Given the description of an element on the screen output the (x, y) to click on. 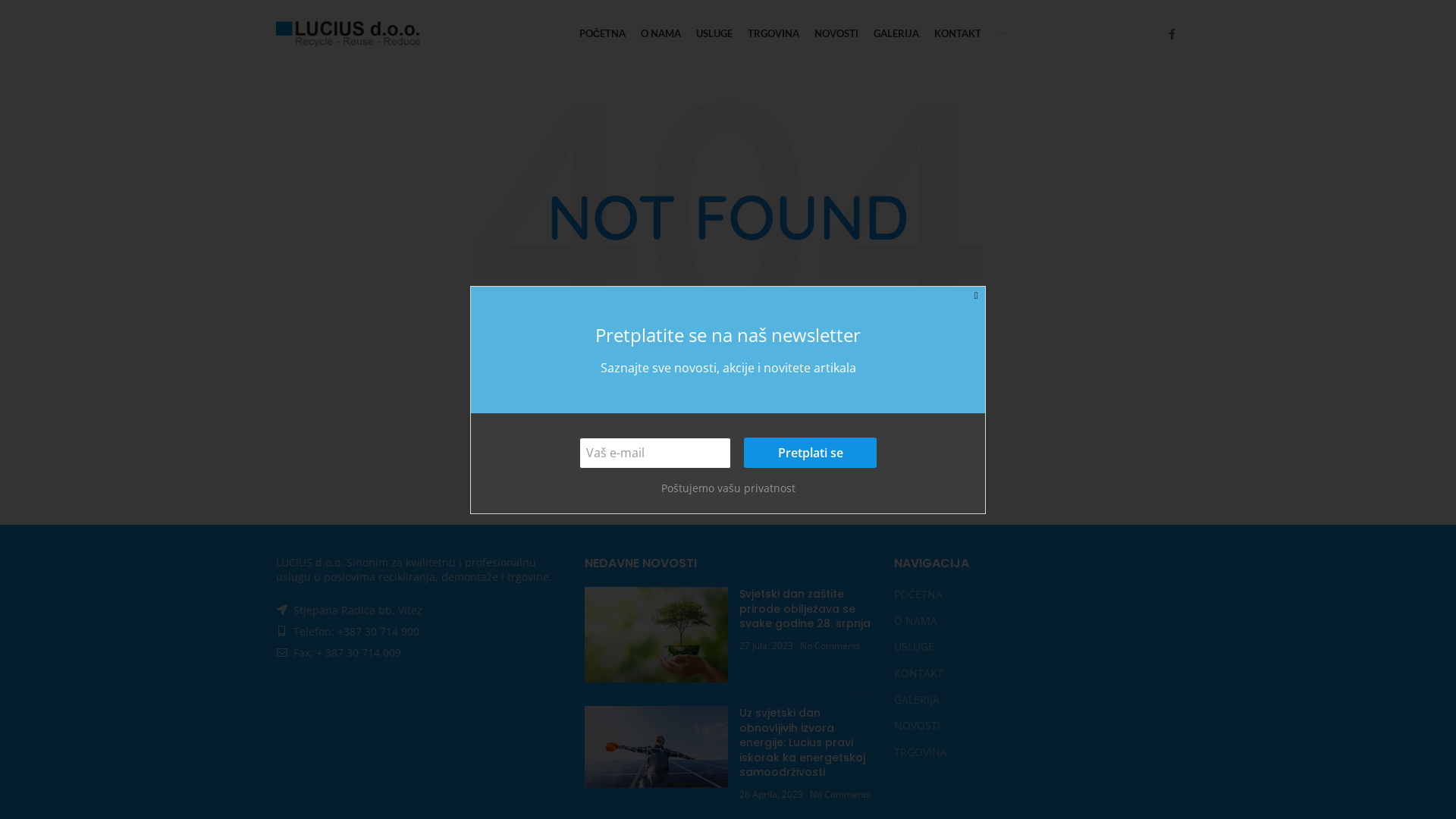
NASLOVNA Element type: hover (656, 634)
USLUGE Element type: text (914, 646)
Man worker in the firld by the solar panels Element type: hover (656, 746)
SEARCH Element type: text (859, 446)
USLUGE Element type: text (714, 33)
No Comments Element type: text (839, 793)
TRGOVINA Element type: text (773, 33)
No Comments Element type: text (830, 645)
KONTAKT Element type: text (919, 672)
O NAMA Element type: text (916, 620)
GALERIJA Element type: text (917, 699)
NOVOSTI Element type: text (836, 33)
GALERIJA Element type: text (896, 33)
O NAMA Element type: text (660, 33)
KONTAKT Element type: text (957, 33)
Search for posts Element type: hover (727, 446)
NOVOSTI Element type: text (917, 725)
Pretplati se Element type: text (809, 452)
TRGOVINA Element type: text (921, 751)
